Given the description of an element on the screen output the (x, y) to click on. 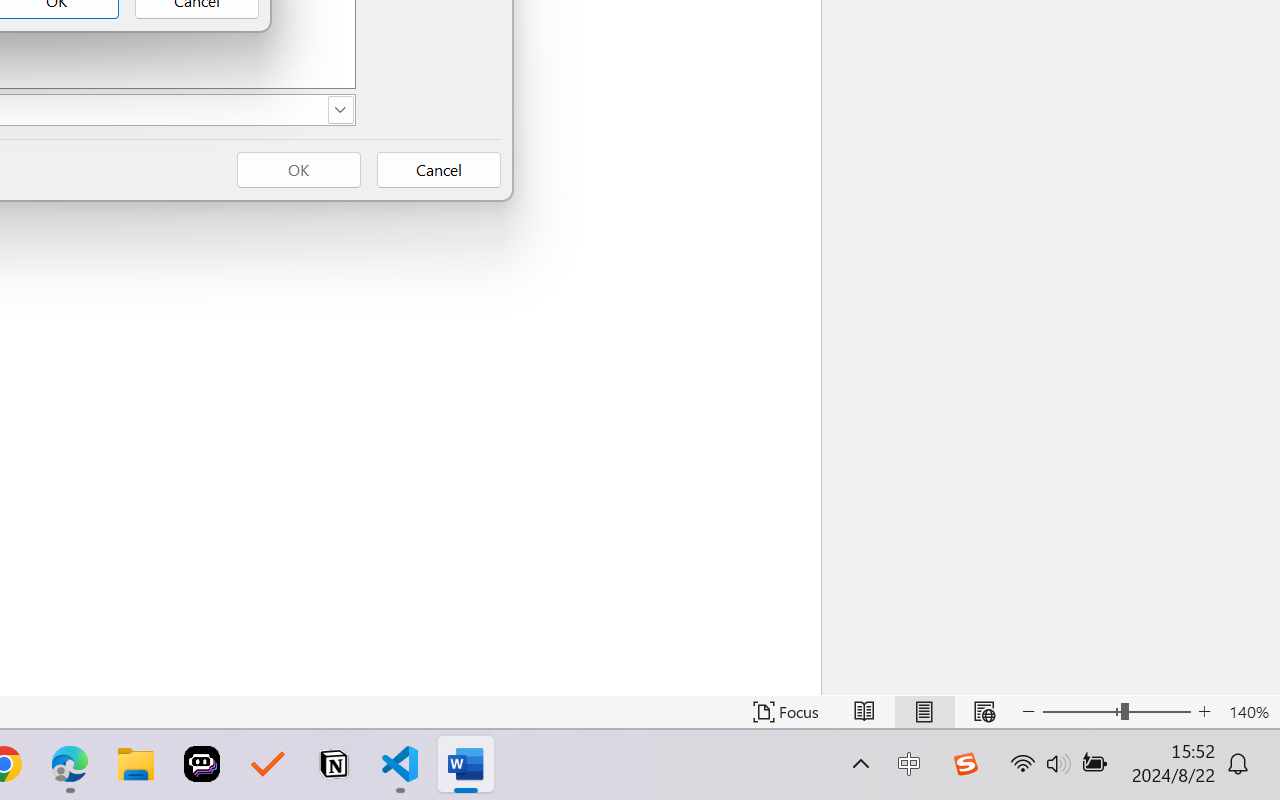
Zoom Out (1081, 712)
Read Mode (864, 712)
Poe (201, 764)
Zoom In (1204, 712)
Web Layout (984, 712)
Notion (333, 764)
